Given the description of an element on the screen output the (x, y) to click on. 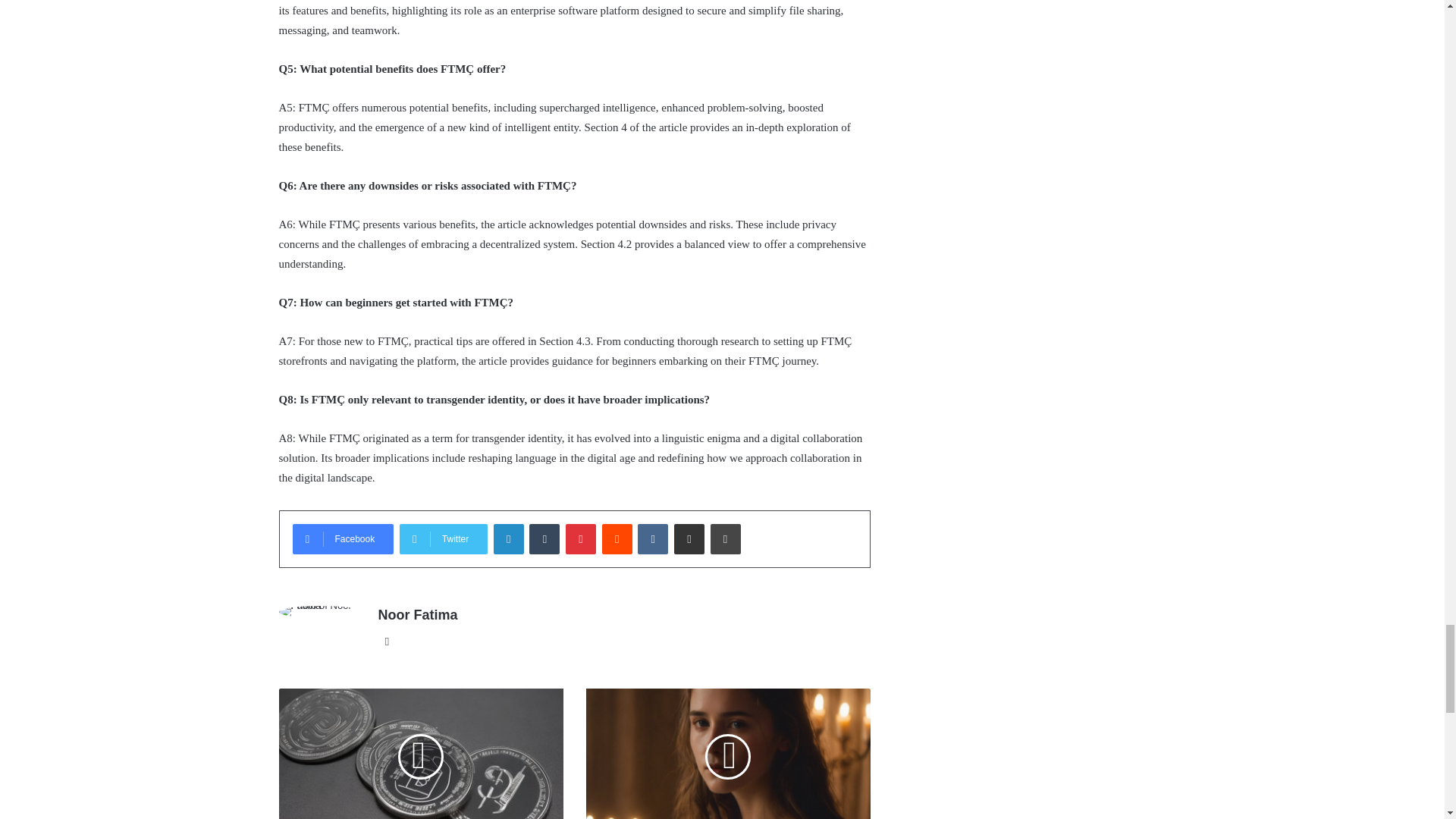
LinkedIn (508, 539)
Facebook (343, 539)
Tumblr (544, 539)
Twitter (442, 539)
